Given the description of an element on the screen output the (x, y) to click on. 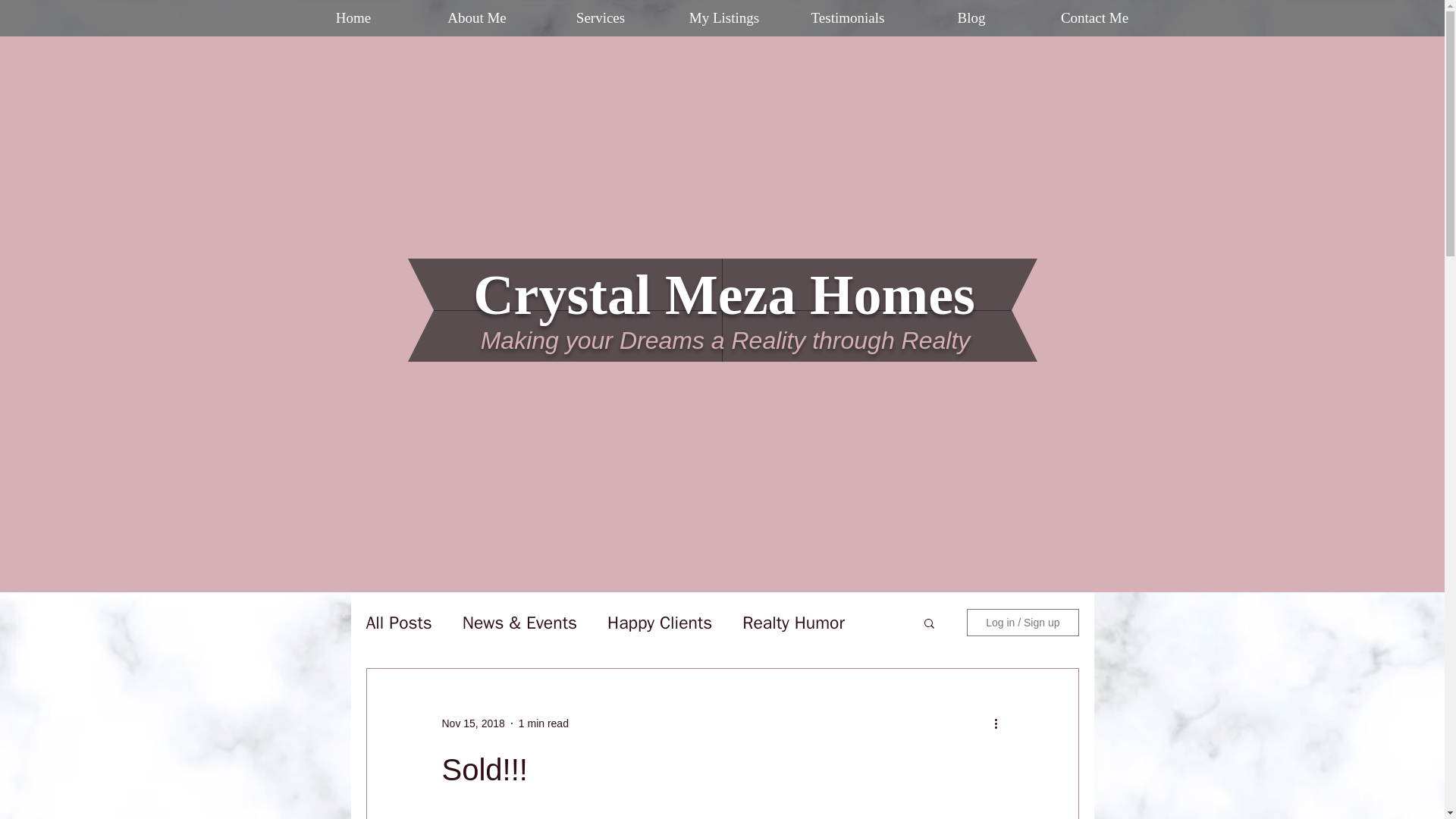
Crystal Meza Homes (724, 294)
Blog (971, 18)
All Posts (397, 622)
My Listings (724, 18)
Making your Dreams a Reality through Realty (725, 339)
Home (352, 18)
Contact Me (1094, 18)
Nov 15, 2018 (472, 723)
1 min read (543, 723)
Happy Clients (659, 622)
